Given the description of an element on the screen output the (x, y) to click on. 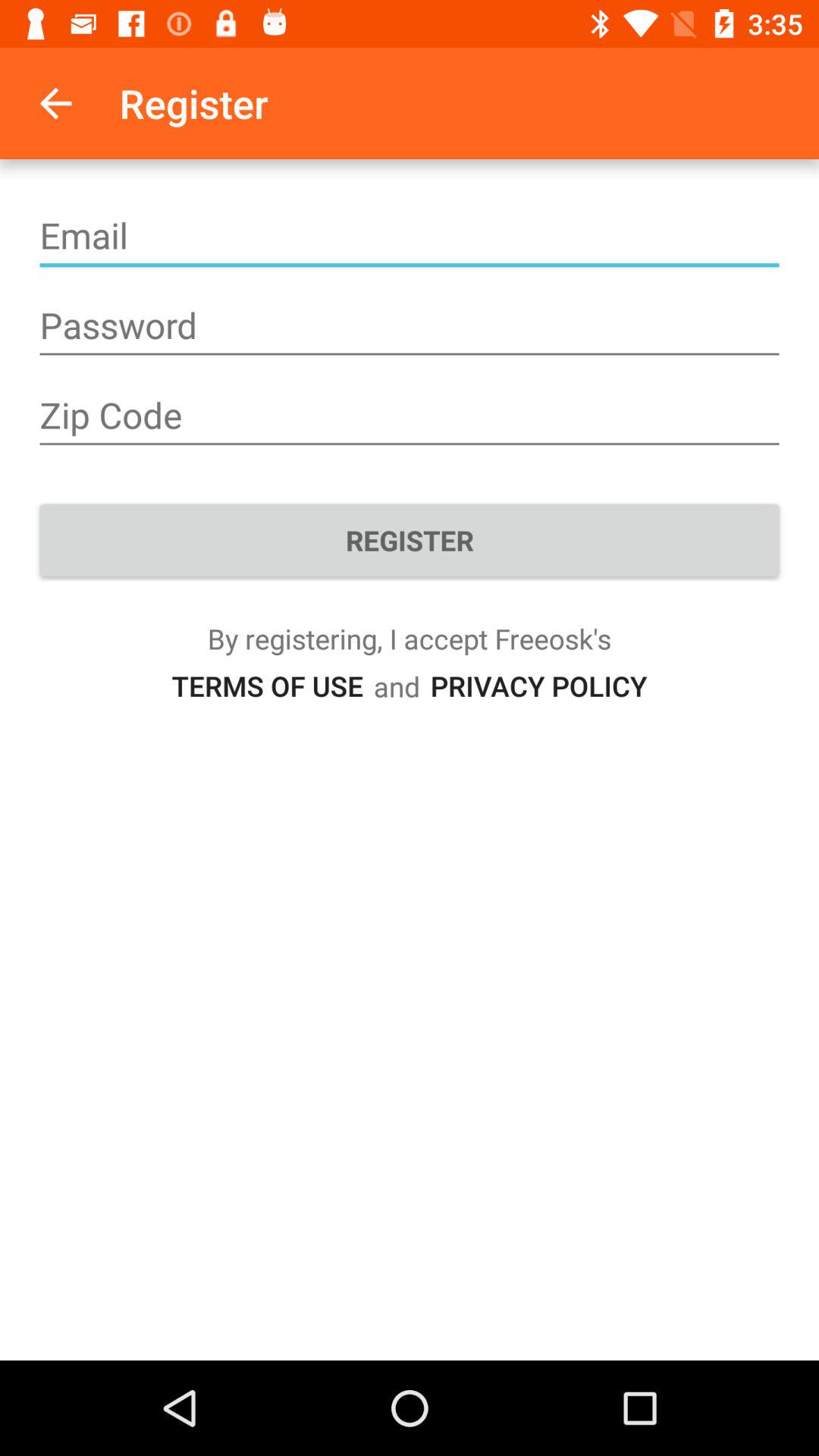
tap the icon to the left of the and (267, 685)
